Given the description of an element on the screen output the (x, y) to click on. 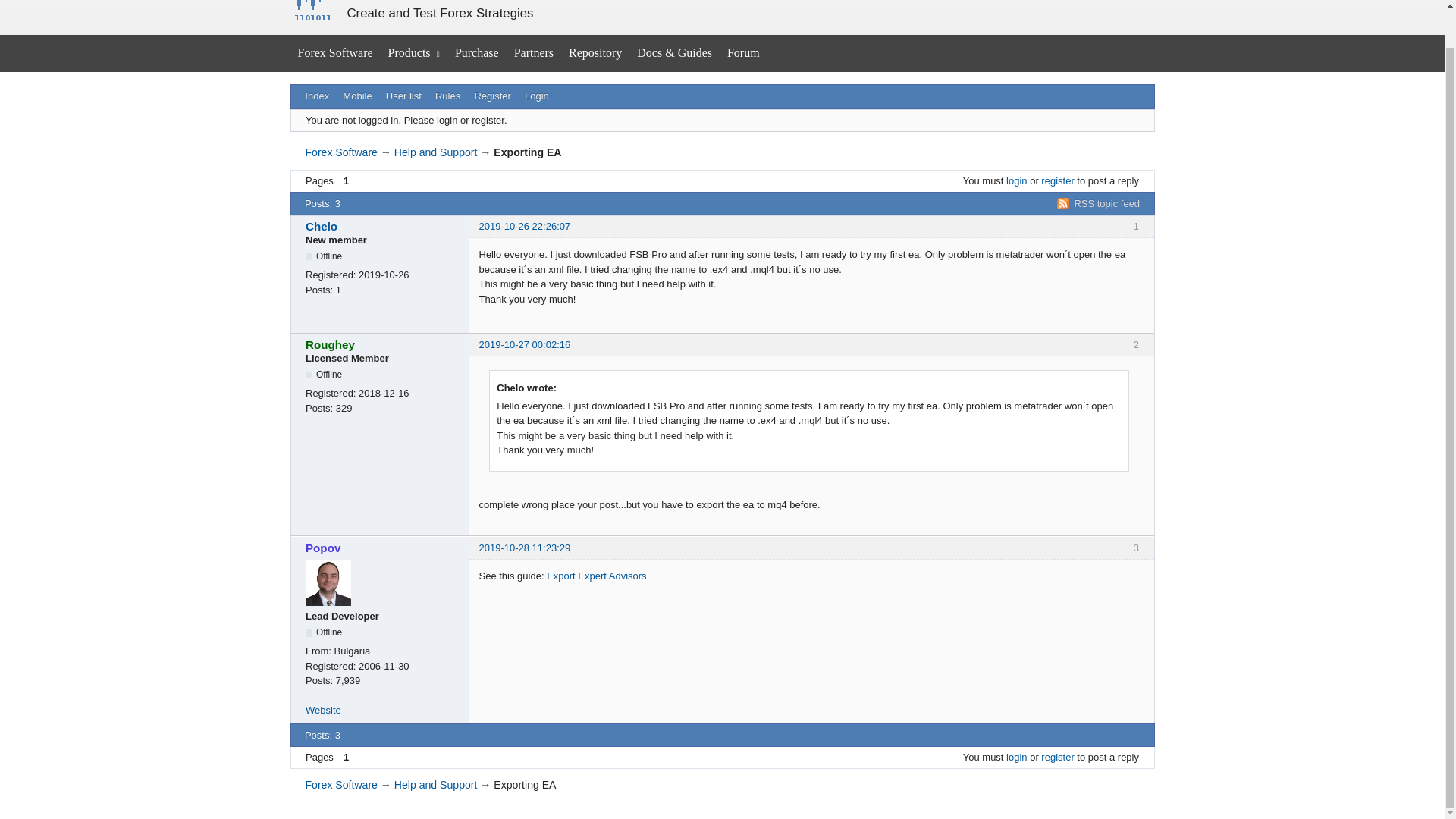
Go to Chelo's profile (381, 226)
Go to Roughey's profile (381, 344)
Register (492, 96)
Website (322, 709)
Roughey (381, 344)
Export Expert Advisors (596, 575)
Repository (594, 53)
Forex Software (340, 152)
Popov (381, 548)
Mobile (357, 96)
User list (403, 96)
Permanent link to this post (524, 225)
Login (537, 96)
2019-10-28 11:23:29 (524, 547)
Rules (447, 96)
